Given the description of an element on the screen output the (x, y) to click on. 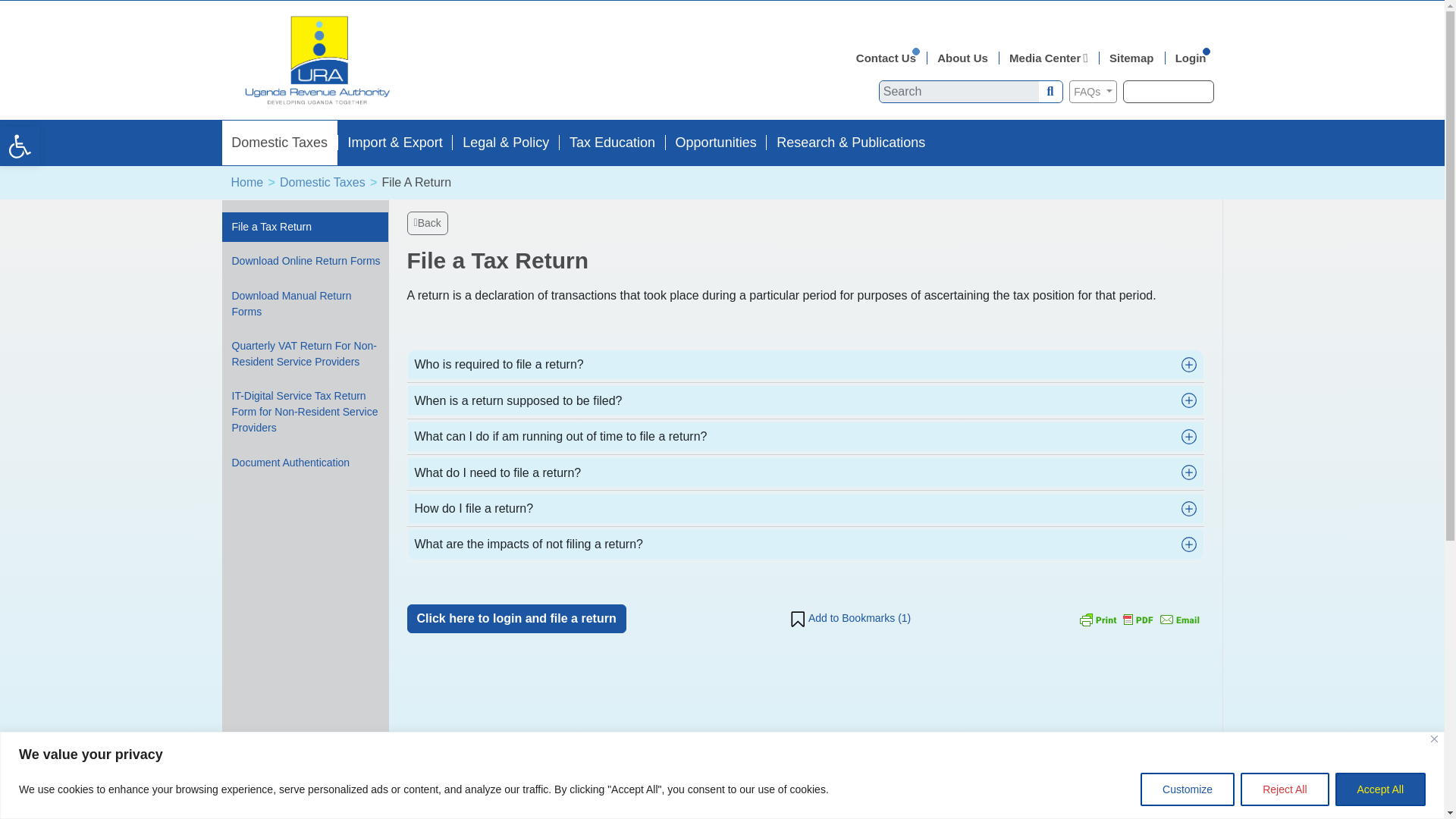
Media Center (1053, 58)
About Us (967, 58)
Domestic Taxes (322, 182)
Click to go to Opportunities (19, 146)
Click to go to Domestic Taxes (716, 142)
Customize (890, 58)
Accept All (278, 142)
File a Return (1187, 788)
Reject All (1380, 788)
Ease Of Access (416, 182)
Ease Of Access (1283, 788)
Bookmark This (19, 146)
